Given the description of an element on the screen output the (x, y) to click on. 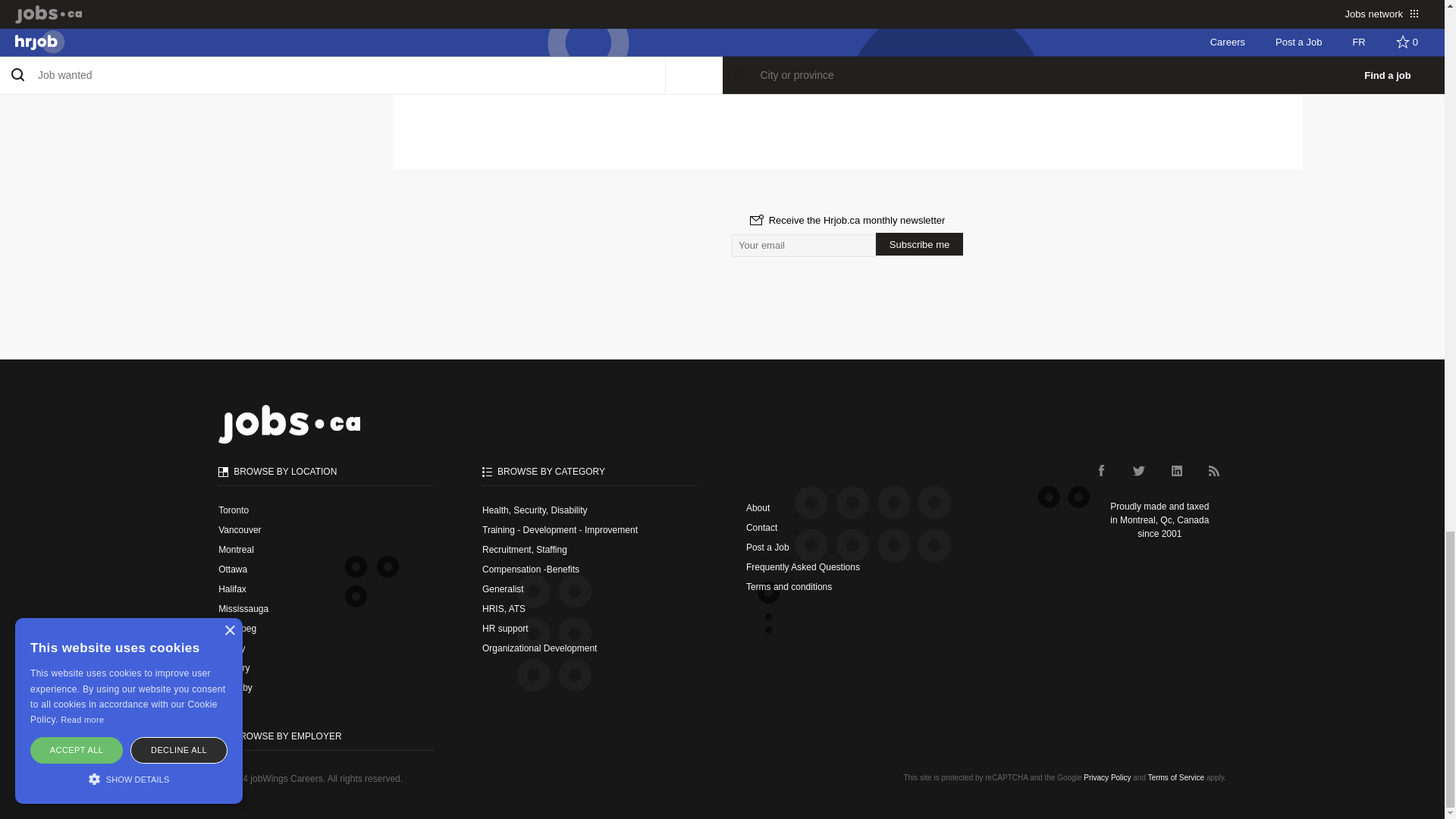
Vector Smart Object (1176, 470)
twitter-icon (1138, 470)
